Given the description of an element on the screen output the (x, y) to click on. 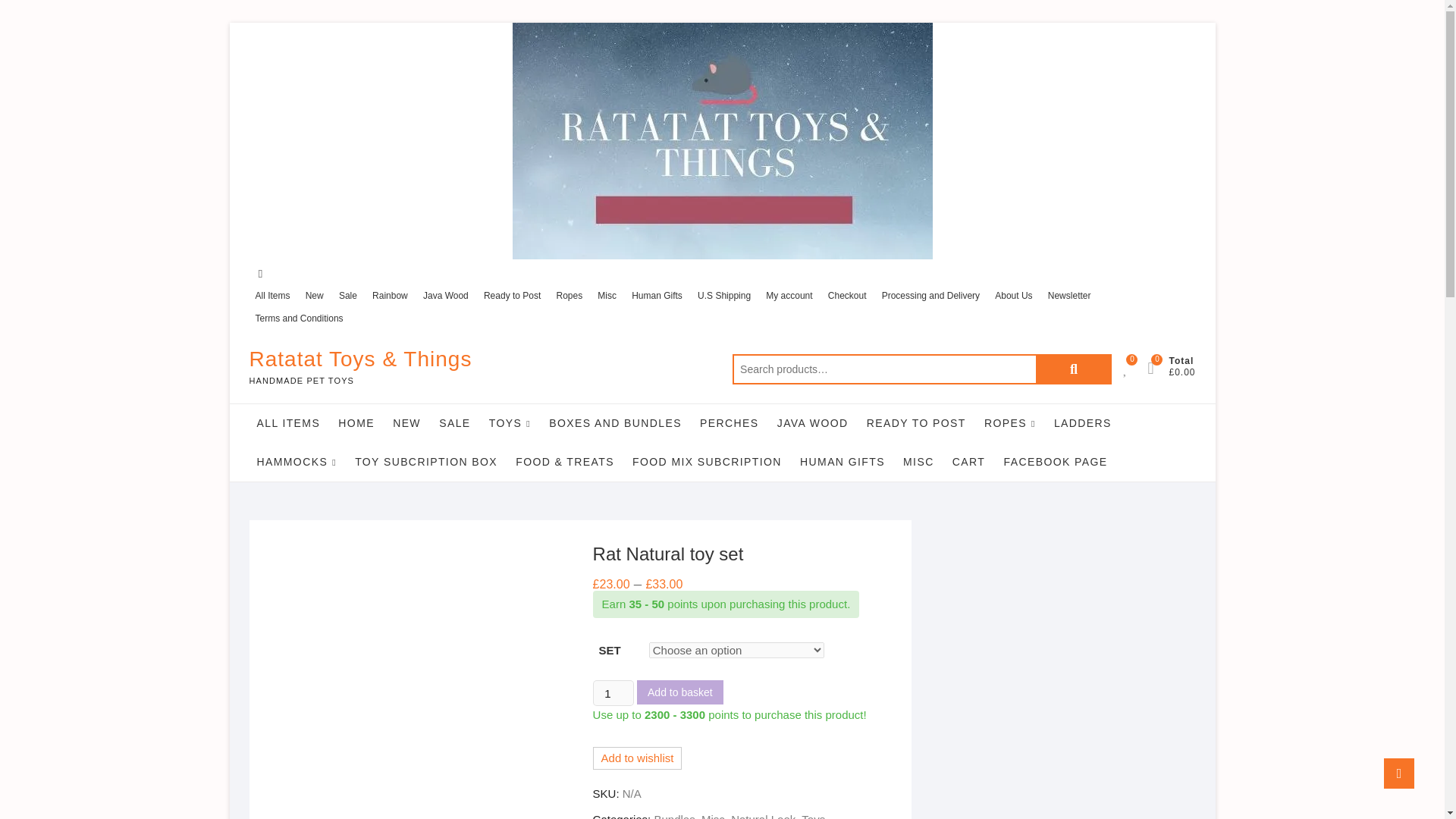
Rainbow (389, 295)
BOXES AND BUNDLES (614, 423)
1 (612, 692)
Sale (347, 295)
Facebook (259, 273)
Search (1073, 368)
Ropes (569, 295)
Java Wood (445, 295)
TOYS (509, 423)
Checkout (847, 295)
Terms and Conditions (298, 318)
New (314, 295)
NEW (406, 423)
Ready to Post (512, 295)
SALE (453, 423)
